Given the description of an element on the screen output the (x, y) to click on. 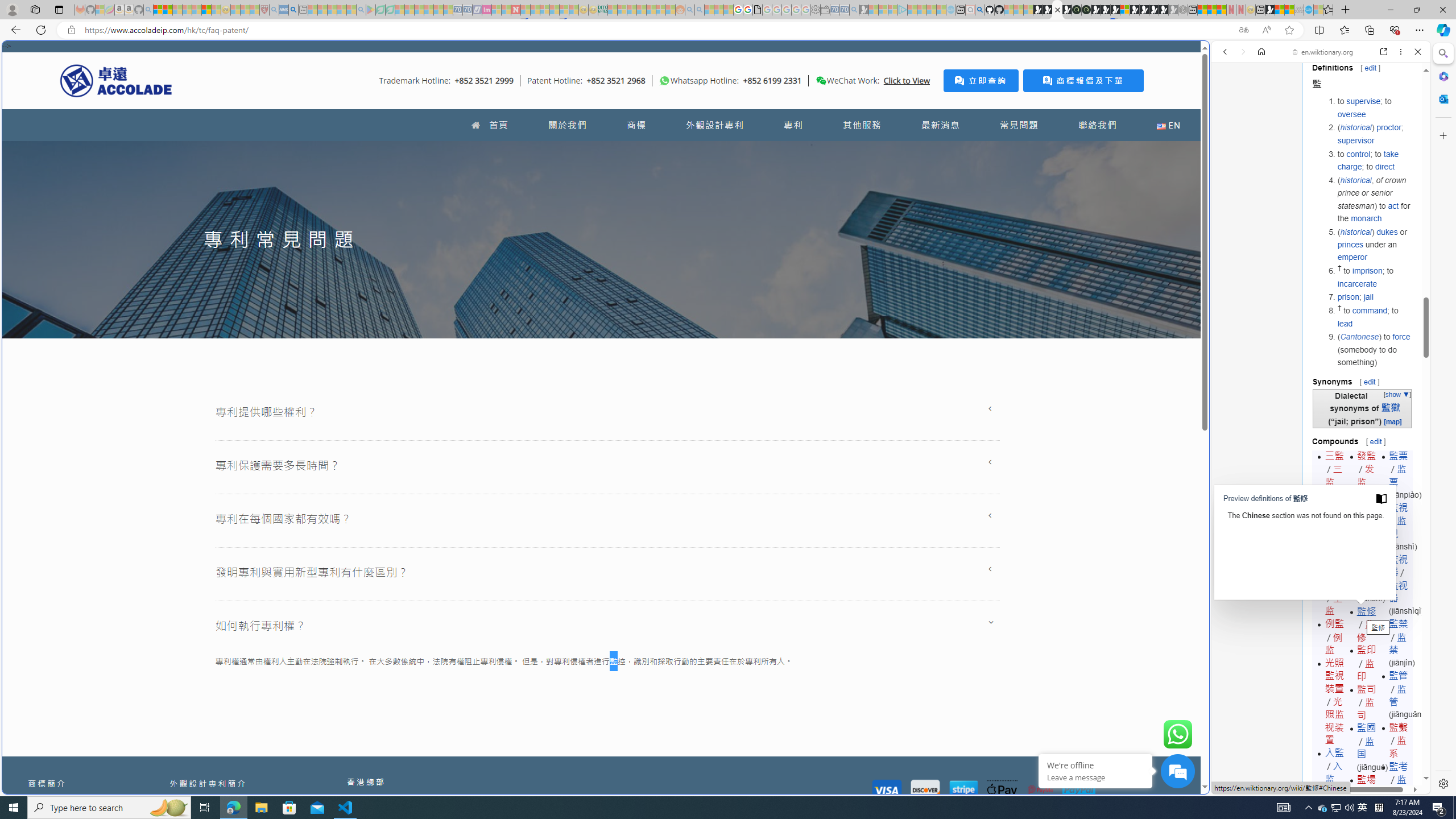
Side bar (1443, 418)
monarch (1366, 217)
Future Focus Report 2024 (1085, 9)
google_privacy_policy_zh-CN.pdf (1118, 683)
lead (1344, 323)
